Given the description of an element on the screen output the (x, y) to click on. 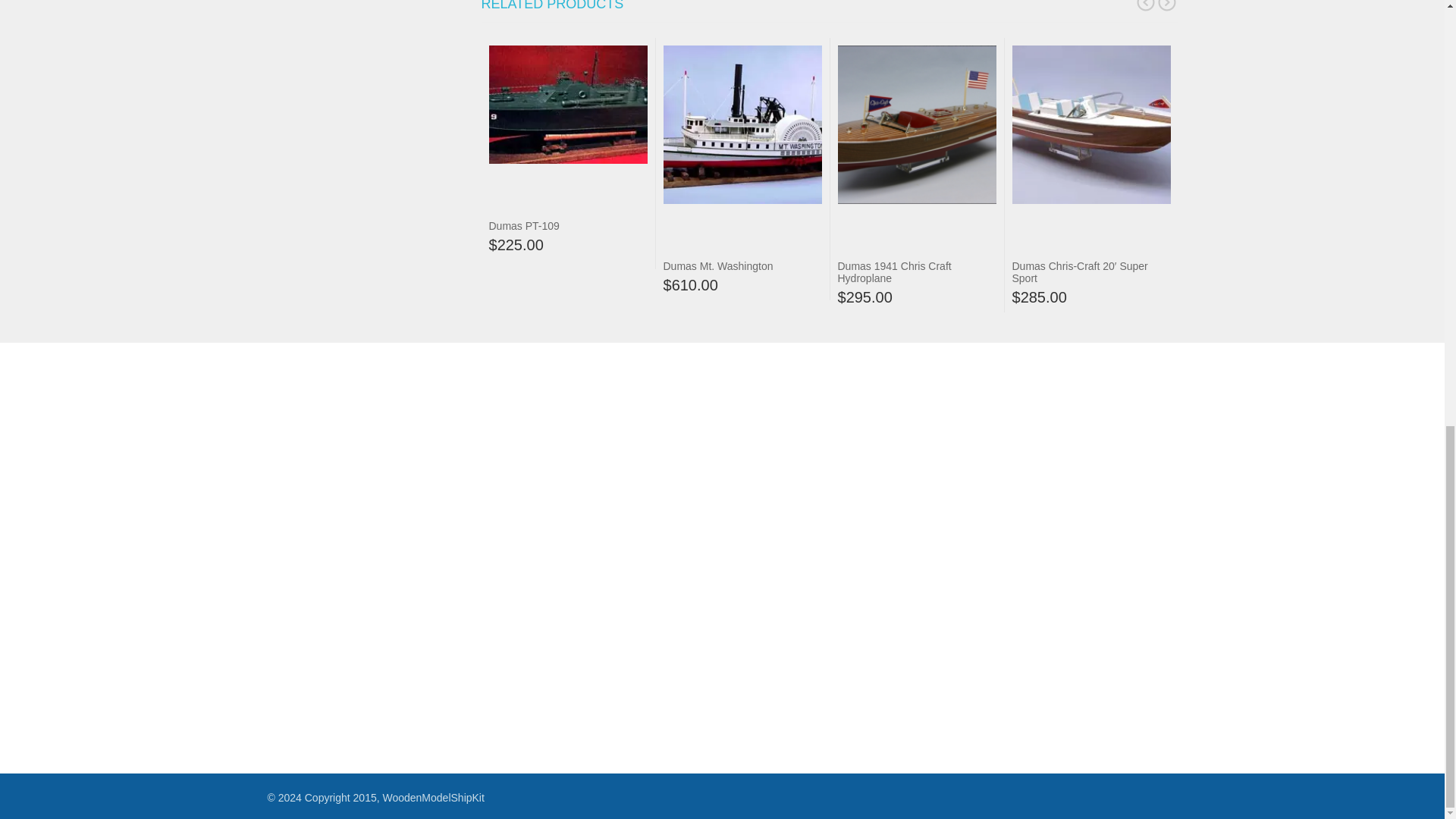
Dumas PT-109 (523, 225)
